Given the description of an element on the screen output the (x, y) to click on. 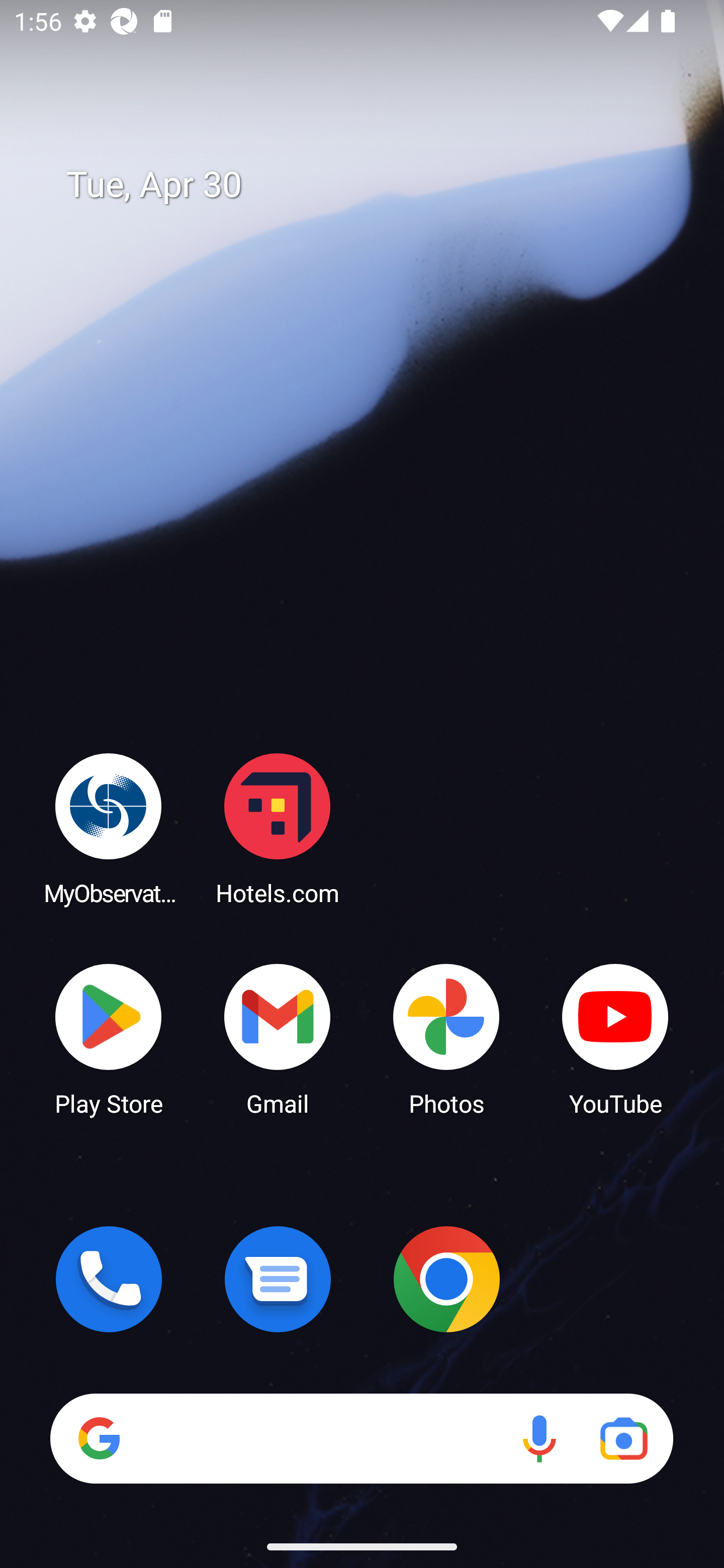
Tue, Apr 30 (375, 184)
MyObservatory (108, 828)
Hotels.com (277, 828)
Play Store (108, 1038)
Gmail (277, 1038)
Photos (445, 1038)
YouTube (615, 1038)
Phone (108, 1279)
Messages (277, 1279)
Chrome (446, 1279)
Voice search (539, 1438)
Google Lens (623, 1438)
